Given the description of an element on the screen output the (x, y) to click on. 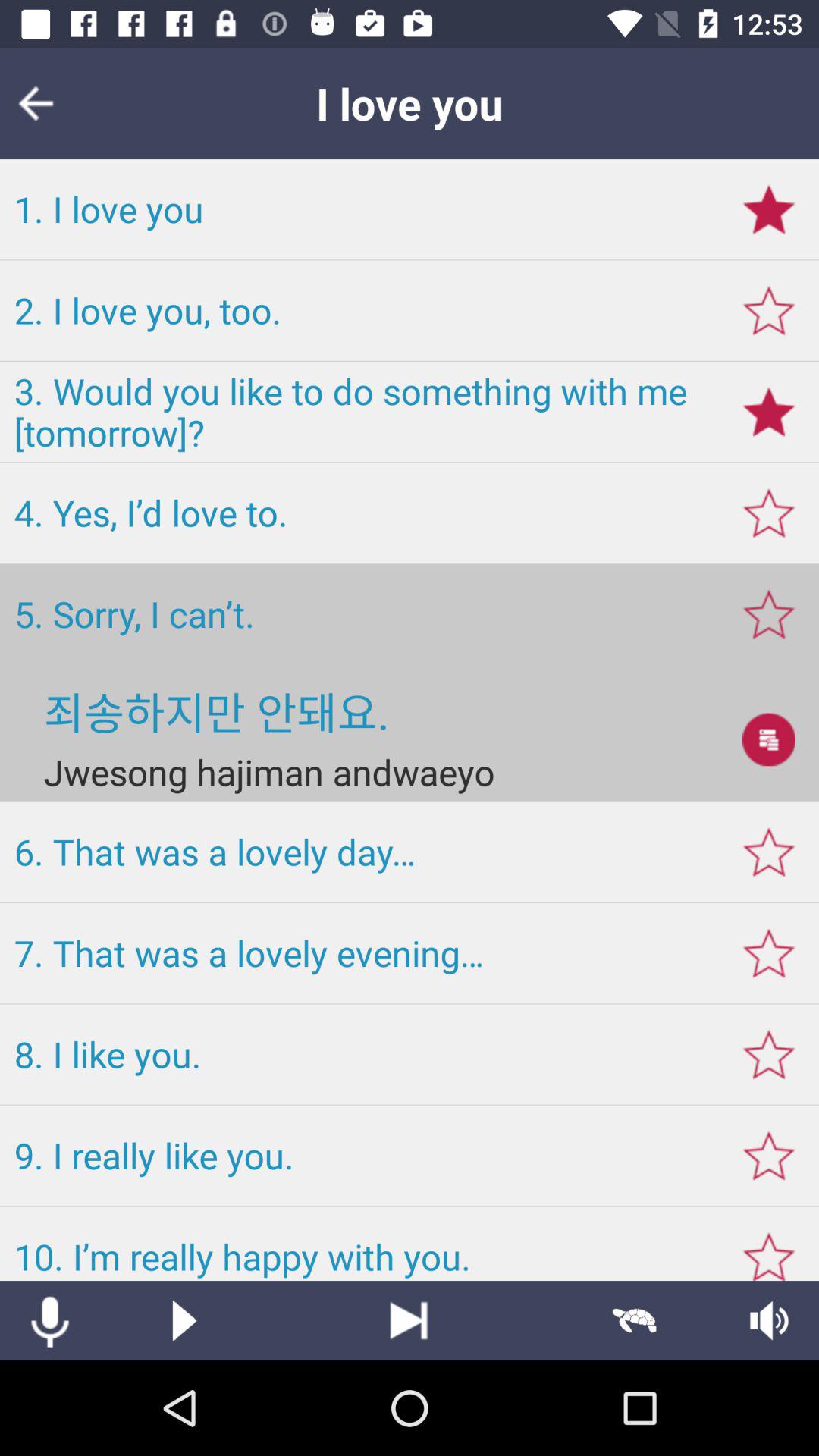
select the circular shaped icon on the web page (768, 739)
